Given the description of an element on the screen output the (x, y) to click on. 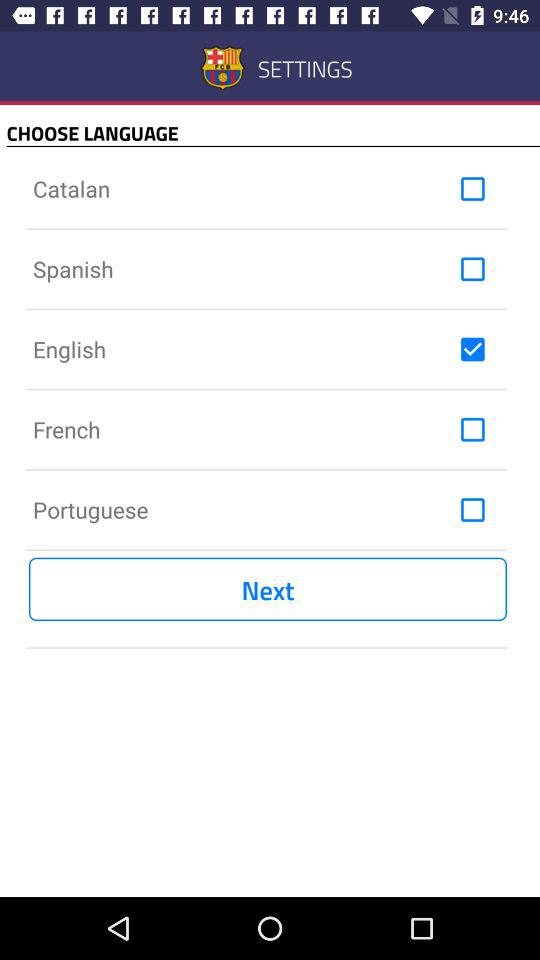
select language (472, 349)
